Given the description of an element on the screen output the (x, y) to click on. 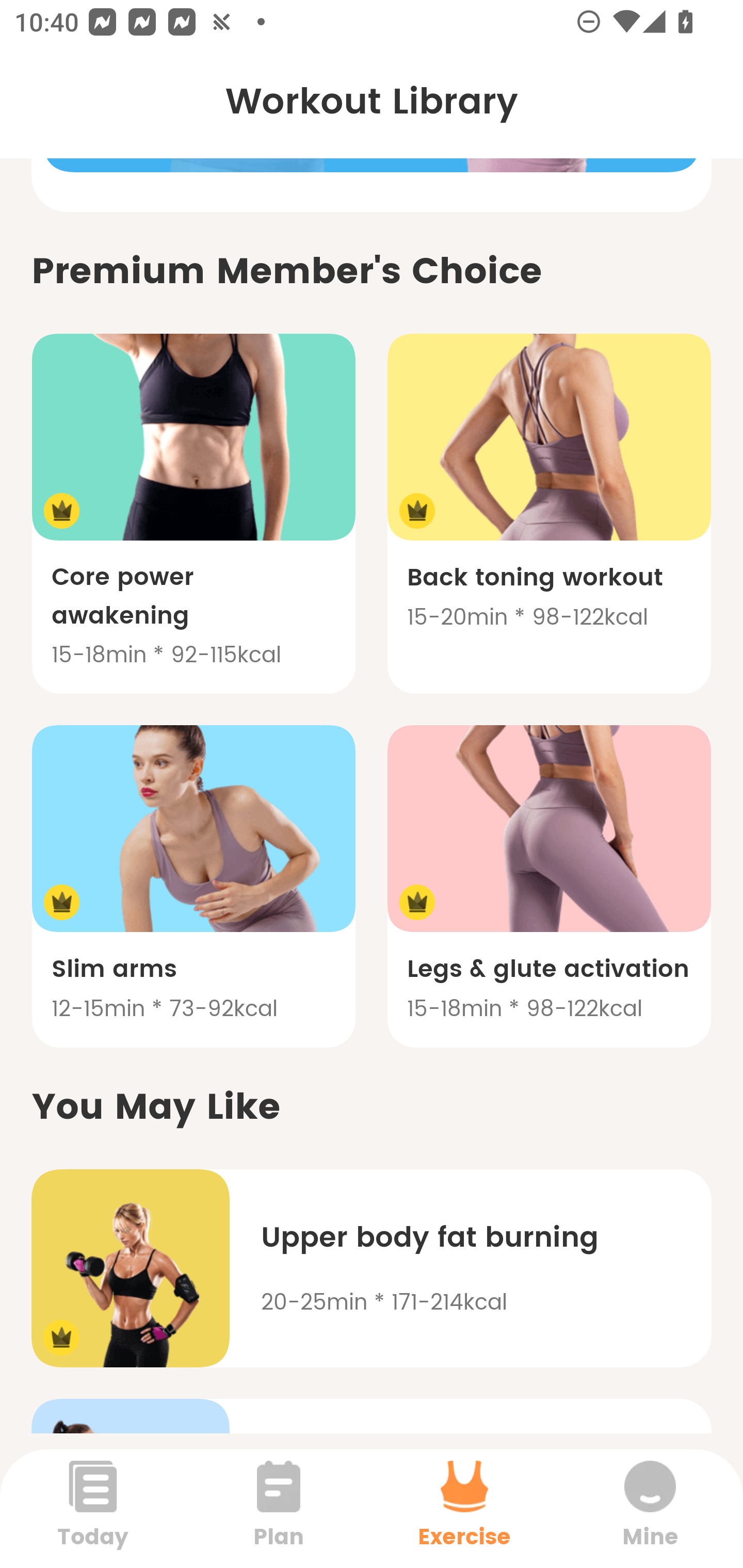
Core power awakening 15-18min * 92-115kcal (193, 513)
Back toning workout 15-20min * 98-122kcal (549, 513)
Slim arms 12-15min * 73-92kcal (193, 885)
Legs & glute activation 15-18min * 98-122kcal (549, 885)
Upper body fat burning 20-25min * 171-214kcal (371, 1268)
Today (92, 1508)
Plan (278, 1508)
Mine (650, 1508)
